Given the description of an element on the screen output the (x, y) to click on. 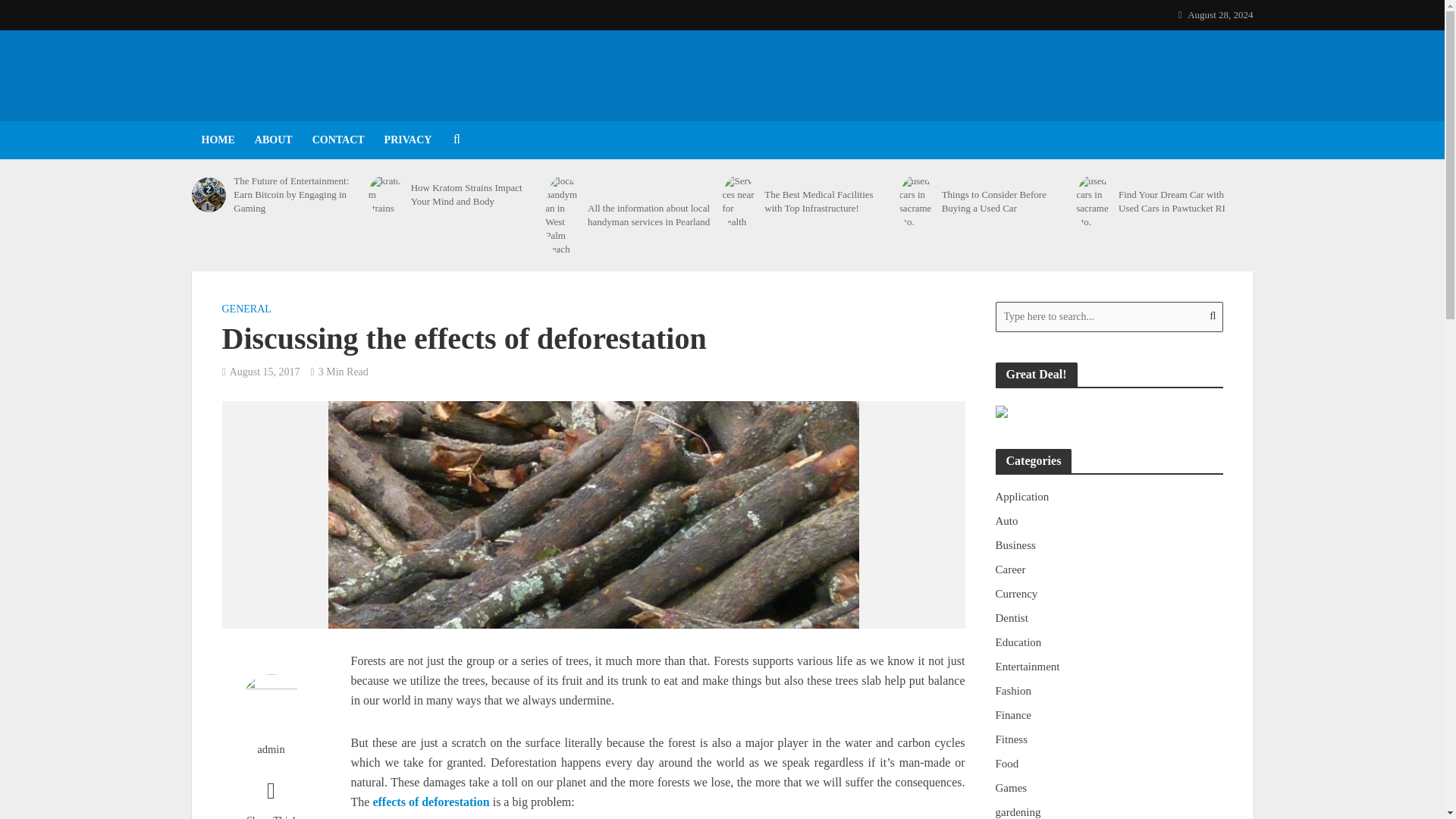
effects of deforestation (430, 803)
PRIVACY (408, 139)
admin (270, 749)
How Kratom Strains Impact Your Mind and Body (472, 194)
ABOUT (273, 139)
Things to Consider Before Buying a Used Car (1003, 201)
HOME (217, 139)
